Given the description of an element on the screen output the (x, y) to click on. 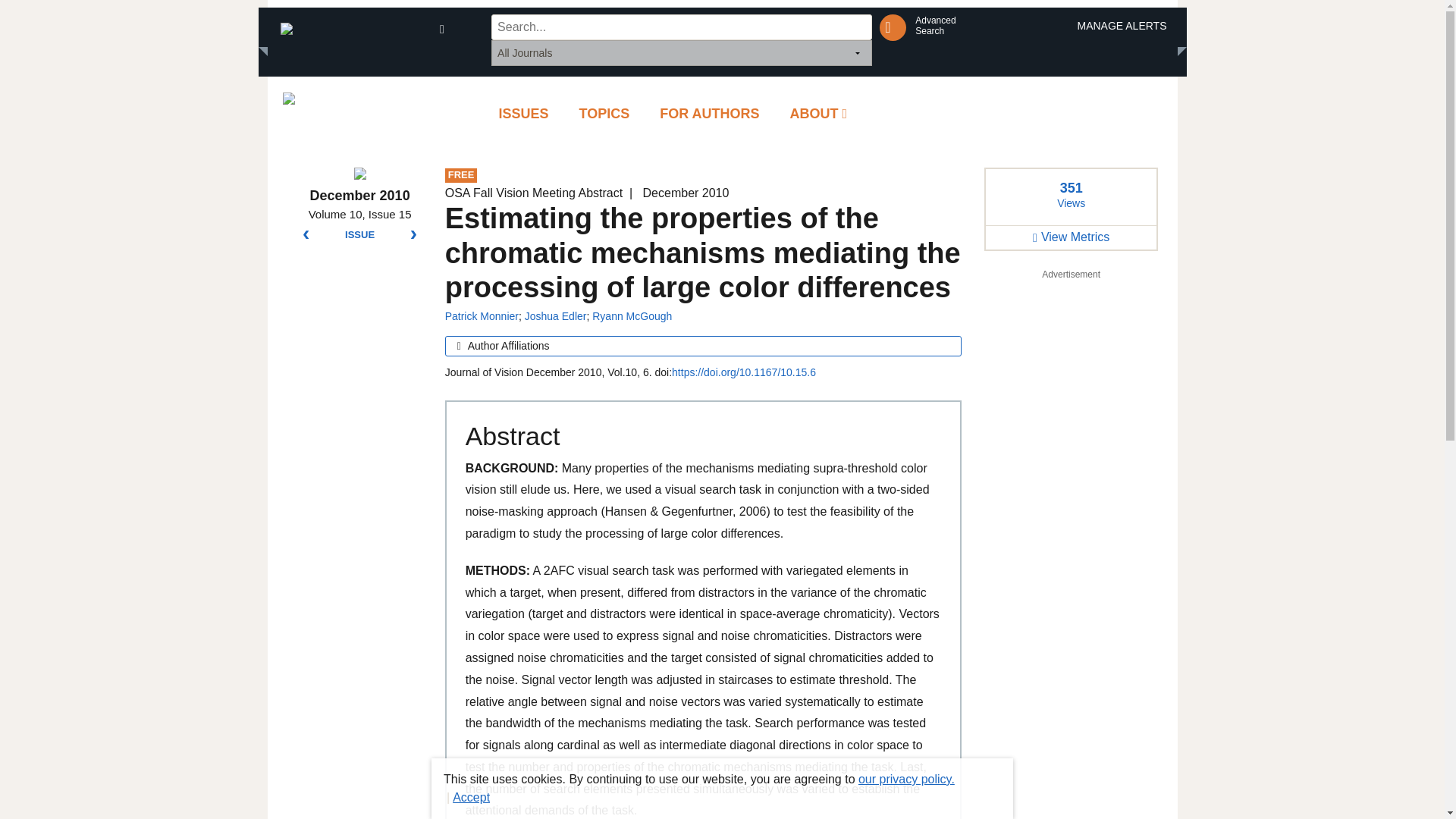
Joshua Edler (555, 316)
ISSUE (359, 234)
Ryann McGough (631, 316)
ISSUES (523, 114)
Patrick Monnier (481, 316)
ABOUT (818, 114)
TOPICS (604, 114)
FOR AUTHORS (935, 25)
